Given the description of an element on the screen output the (x, y) to click on. 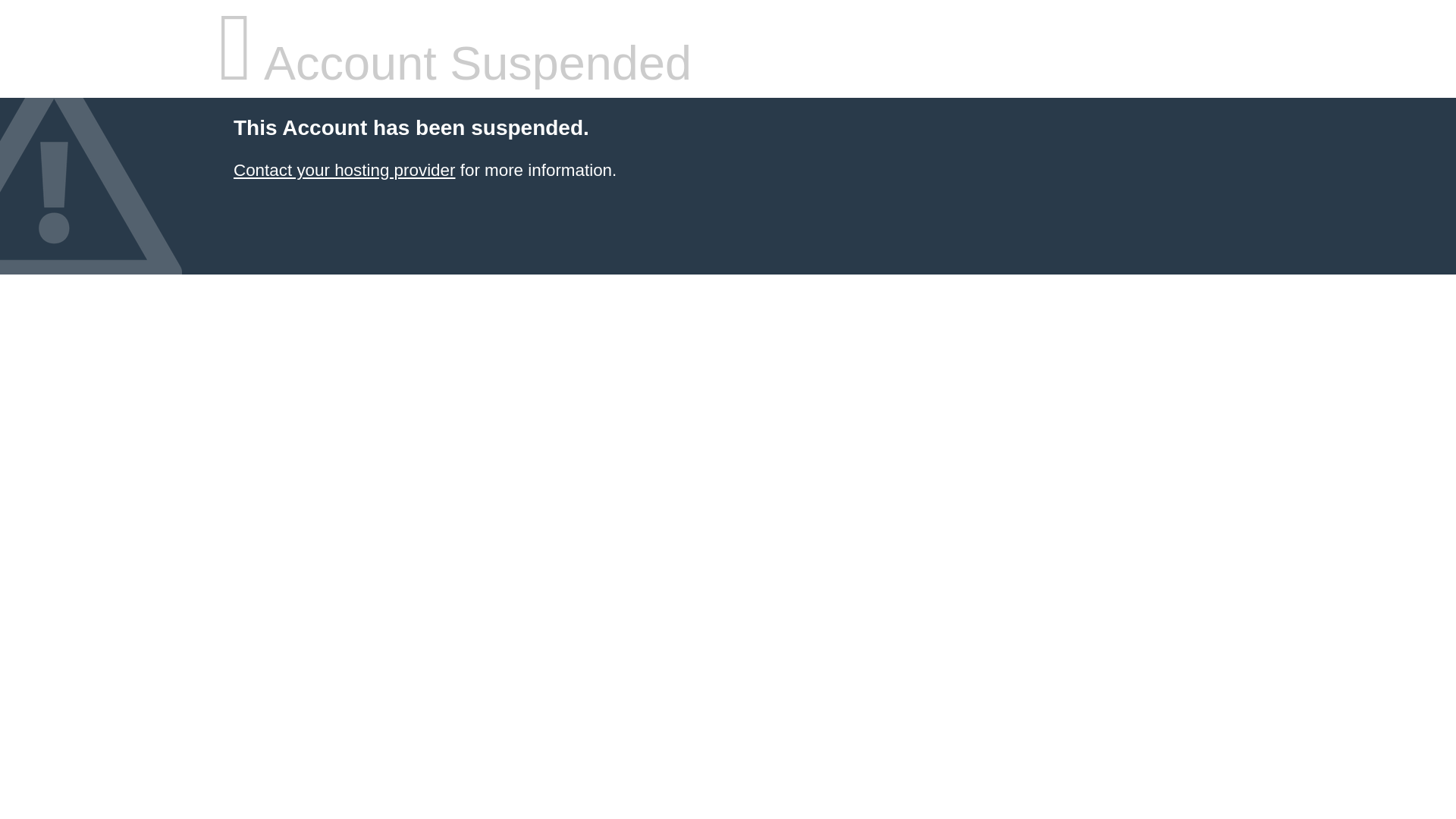
Contact your hosting provider (343, 169)
